Given the description of an element on the screen output the (x, y) to click on. 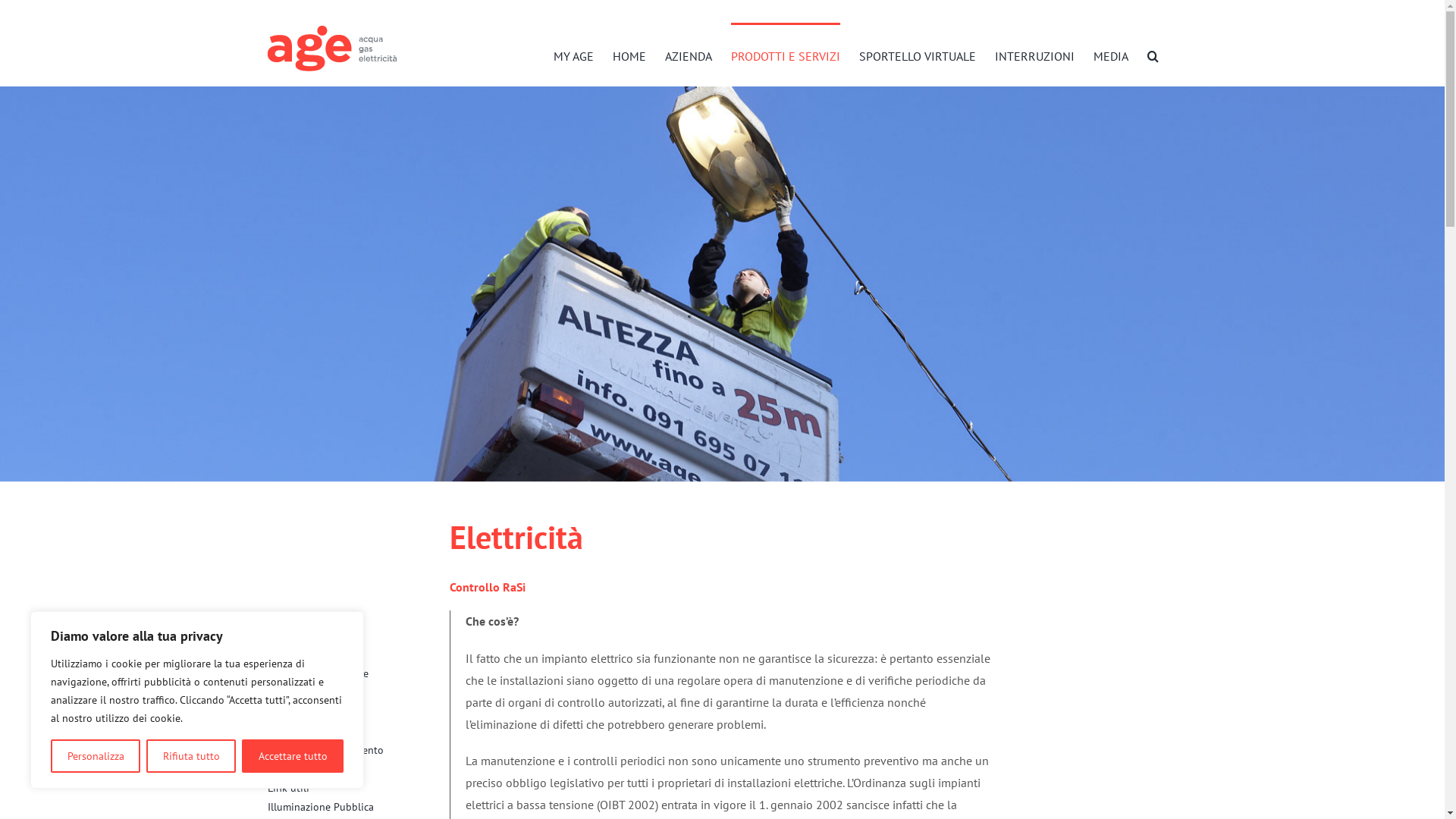
Etichettatura Element type: text (357, 654)
Accettare tutto Element type: text (292, 755)
Energia ecologica Element type: text (357, 768)
Lettura contatori Element type: text (357, 692)
SPORTELLO VIRTUALE Element type: text (916, 54)
Rifiuta tutto Element type: text (190, 755)
MEDIA Element type: text (1110, 54)
INTERRUZIONI Element type: text (1034, 54)
Tessere ricaricabili Element type: text (357, 711)
Search Element type: hover (1151, 54)
Personalizza Element type: text (95, 755)
AZIENDA Element type: text (687, 54)
Illuminazione Pubblica Element type: text (357, 806)
Link utili Element type: text (357, 787)
HOME Element type: text (629, 54)
Regolamento e Tariffe Element type: text (357, 673)
Controllo RaSi Element type: text (357, 730)
PRODOTTI E SERVIZI Element type: text (785, 54)
Rete AGE Element type: text (357, 634)
MY AGE Element type: text (573, 54)
